Given the description of an element on the screen output the (x, y) to click on. 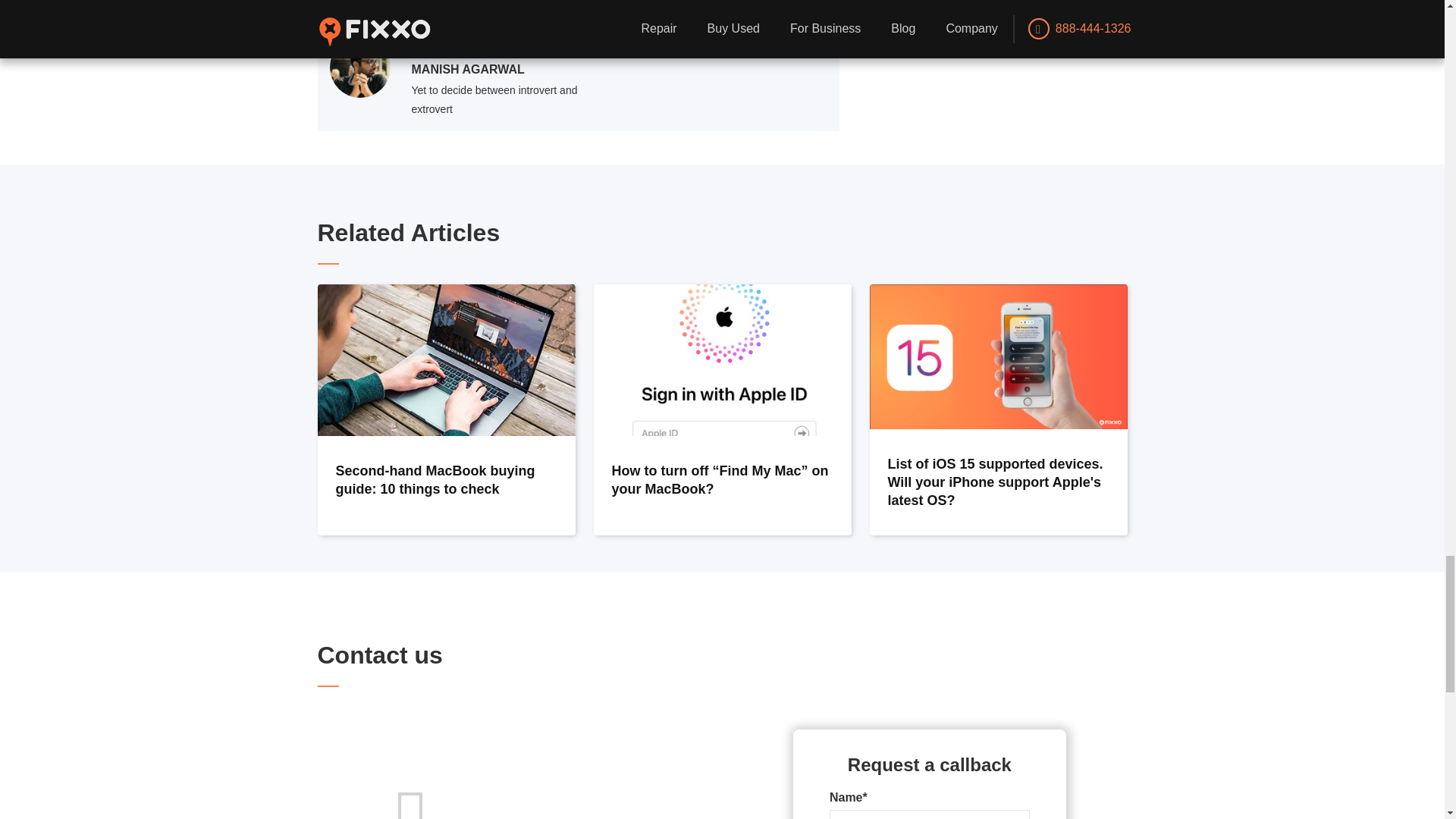
Second-hand MacBook buying guide: 10 things to check (446, 409)
